Given the description of an element on the screen output the (x, y) to click on. 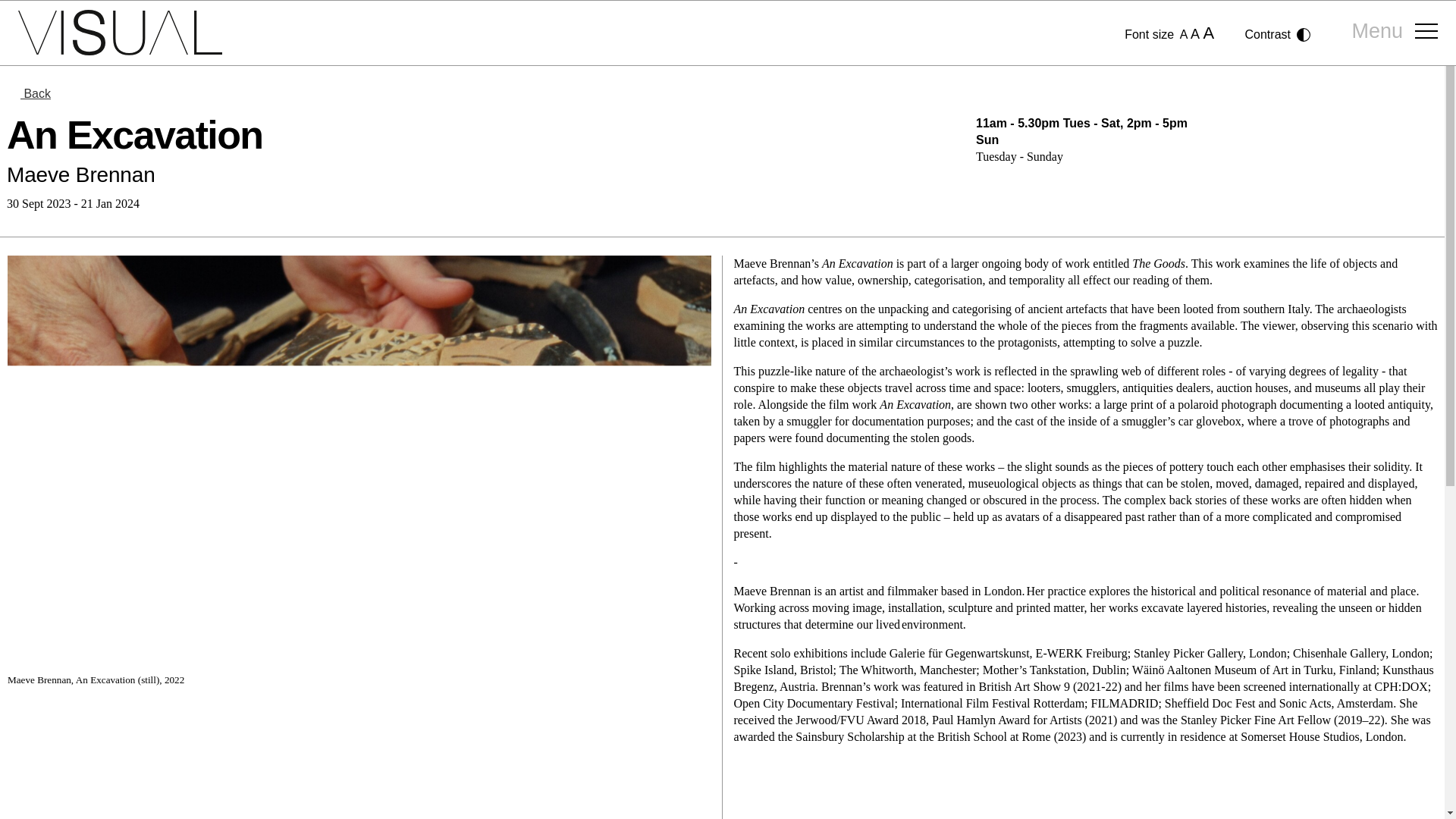
Menu (1394, 32)
YouTube video player (359, 762)
Contrast (1277, 34)
